Given the description of an element on the screen output the (x, y) to click on. 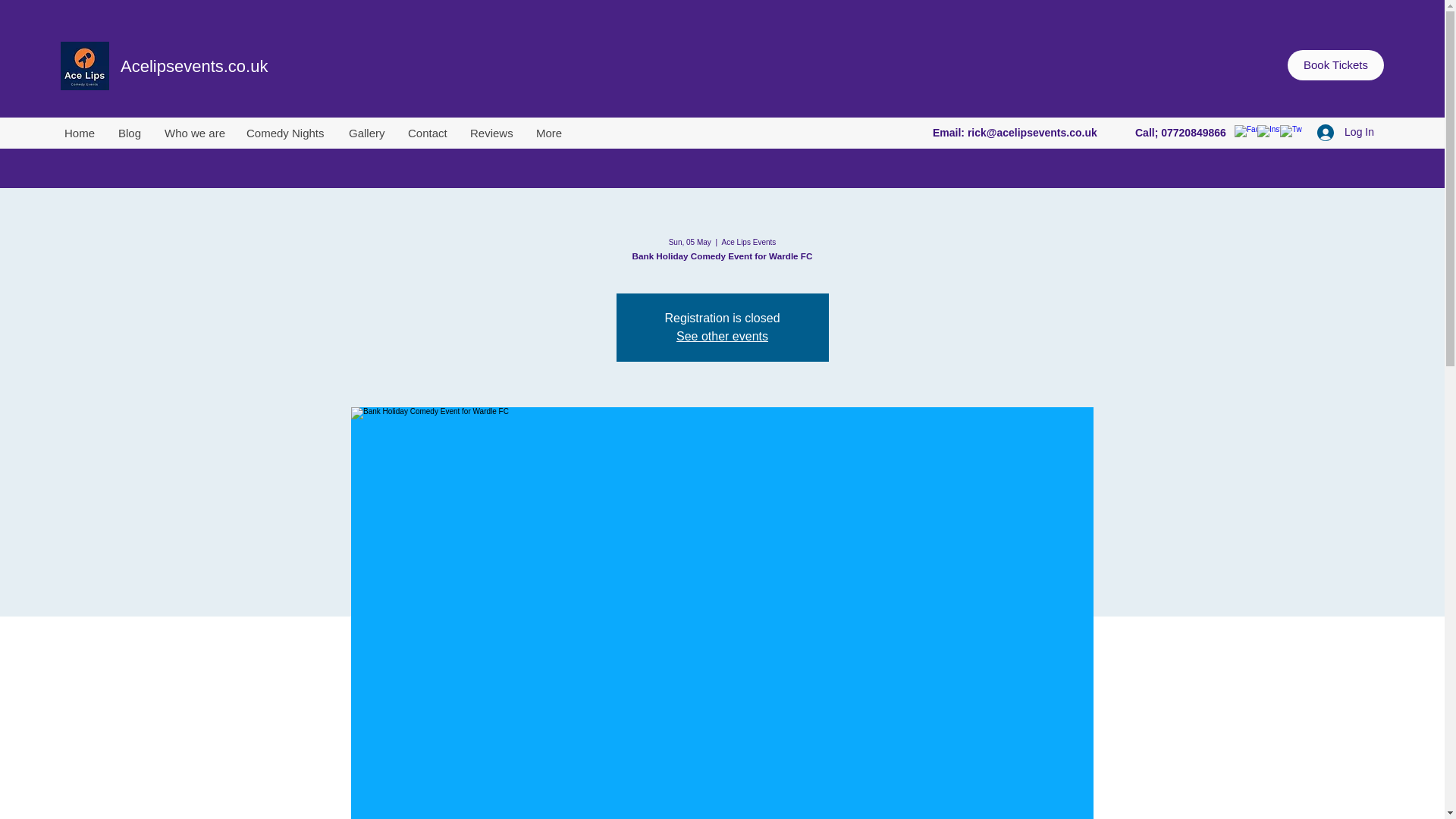
Log In (1345, 131)
Contact (427, 132)
See other events (722, 336)
Book Tickets (1335, 64)
Comedy Nights (285, 132)
Home (79, 132)
Reviews (491, 132)
Blog (129, 132)
Gallery (366, 132)
Acelipsevents.co.uk (193, 66)
